Given the description of an element on the screen output the (x, y) to click on. 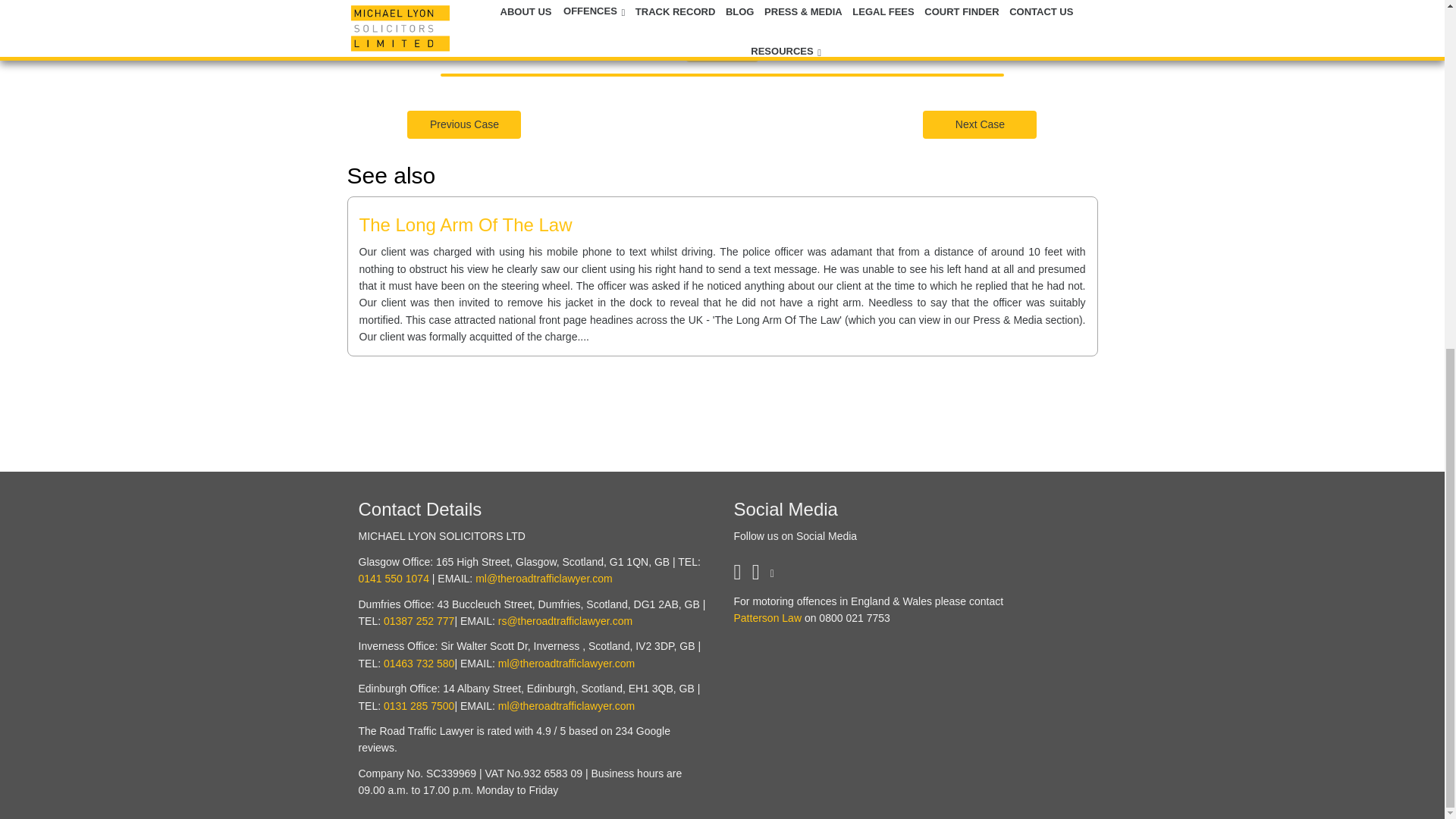
Contact Us (721, 47)
0141 550 1074 (393, 578)
The Long Arm Of The Law (465, 224)
Previous Case (464, 123)
Next Case (979, 123)
Next Case (979, 124)
Previous Case (464, 124)
